Given the description of an element on the screen output the (x, y) to click on. 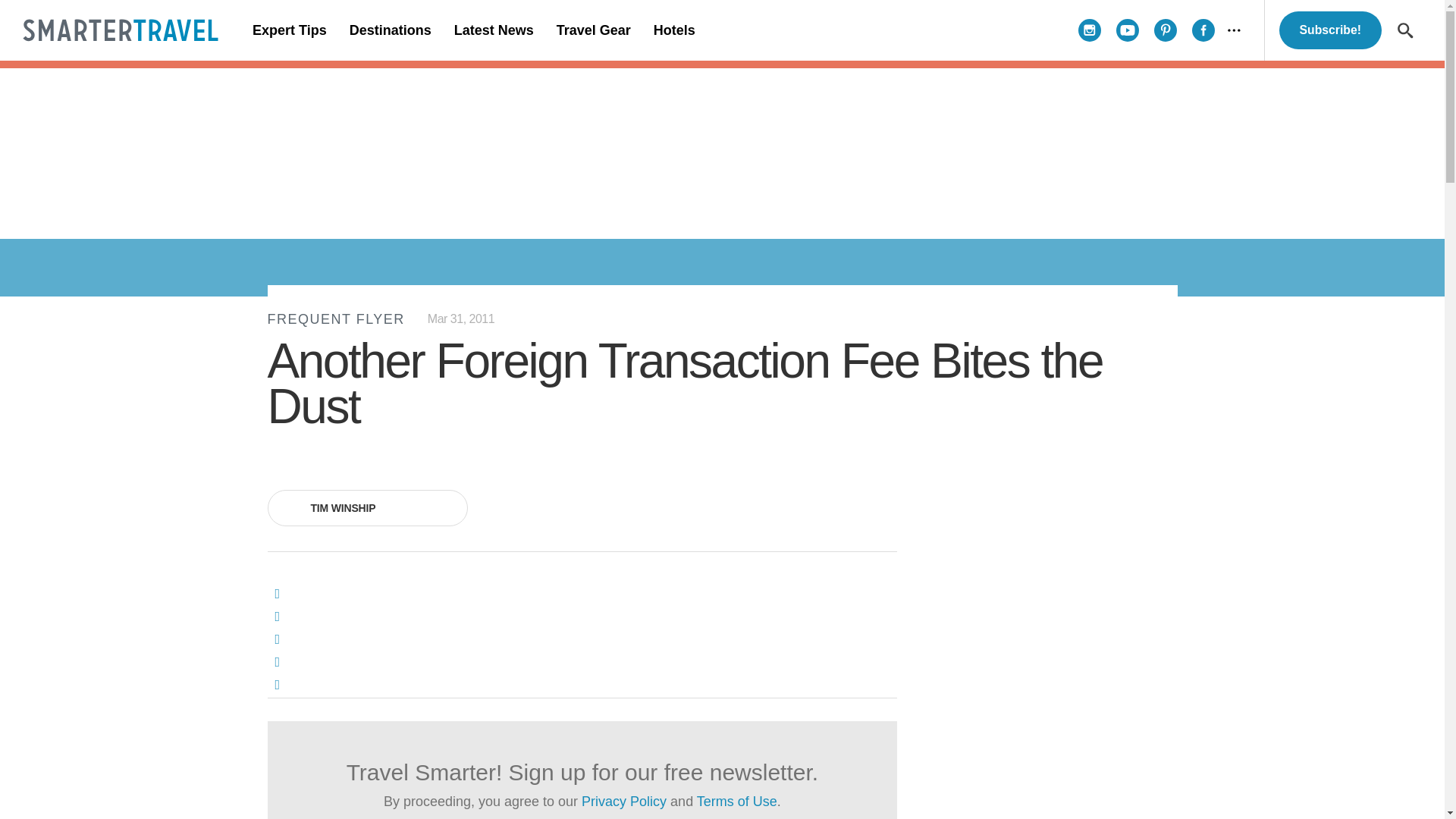
Travel Gear (593, 30)
Hotels (674, 30)
Destinations (389, 30)
Expert Tips (289, 30)
Latest News (493, 30)
Subscribe! (1330, 30)
